Given the description of an element on the screen output the (x, y) to click on. 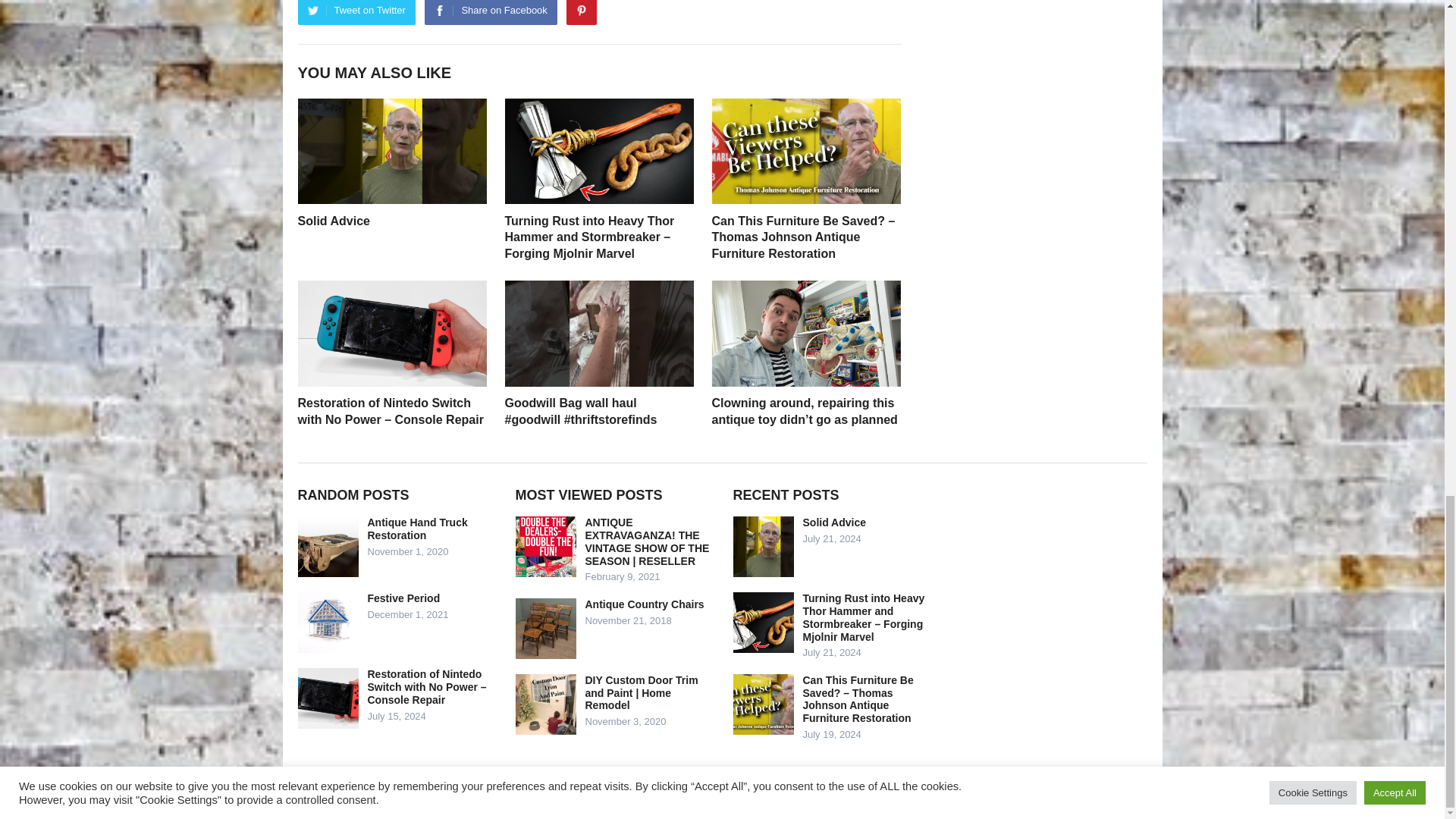
Solid Advice (333, 220)
Tweet on Twitter (355, 12)
Share on Facebook (490, 12)
Pinterest (581, 12)
Solid Advice 2 (391, 150)
